Given the description of an element on the screen output the (x, y) to click on. 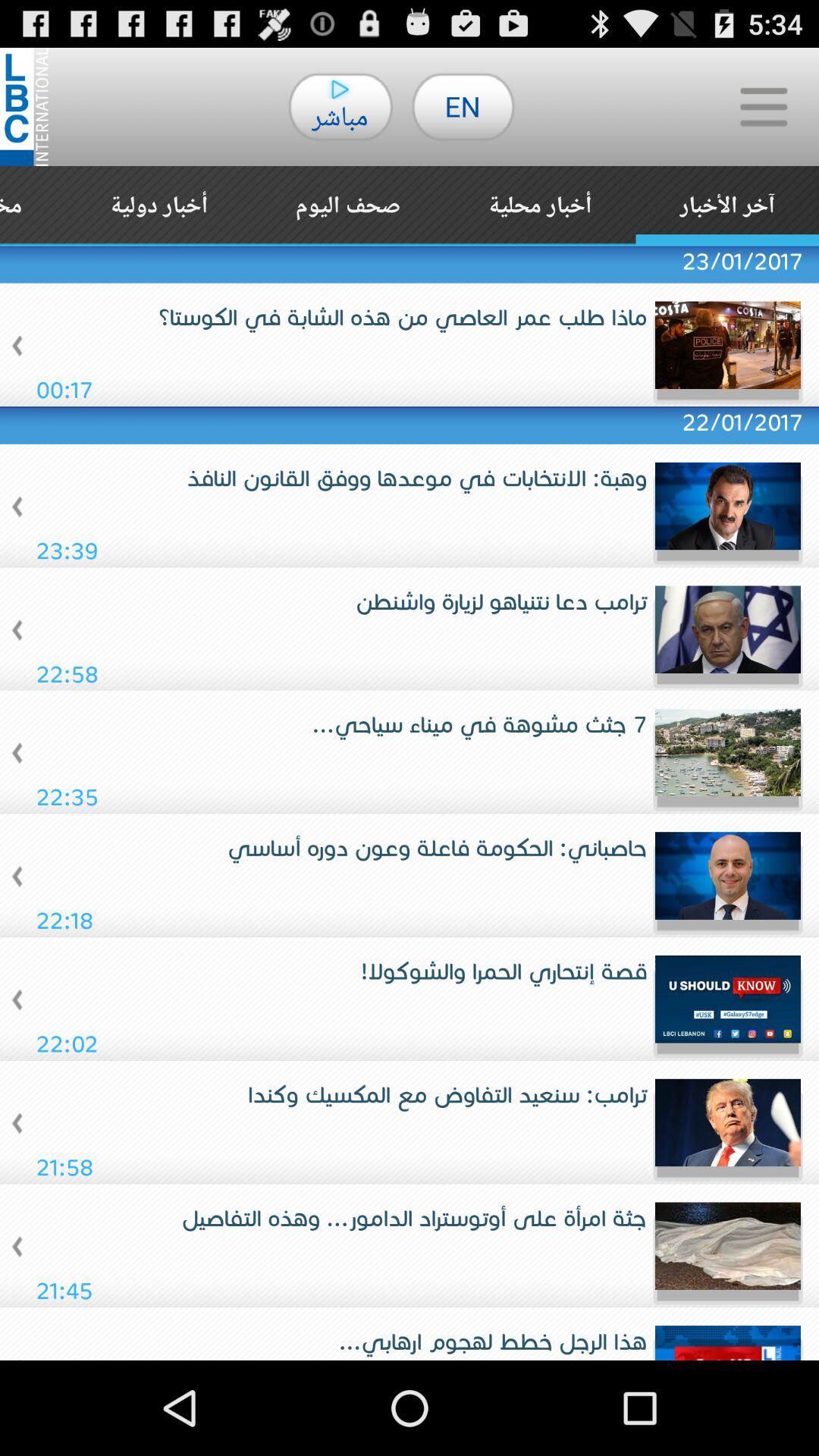
press the button next to en button (763, 106)
